Given the description of an element on the screen output the (x, y) to click on. 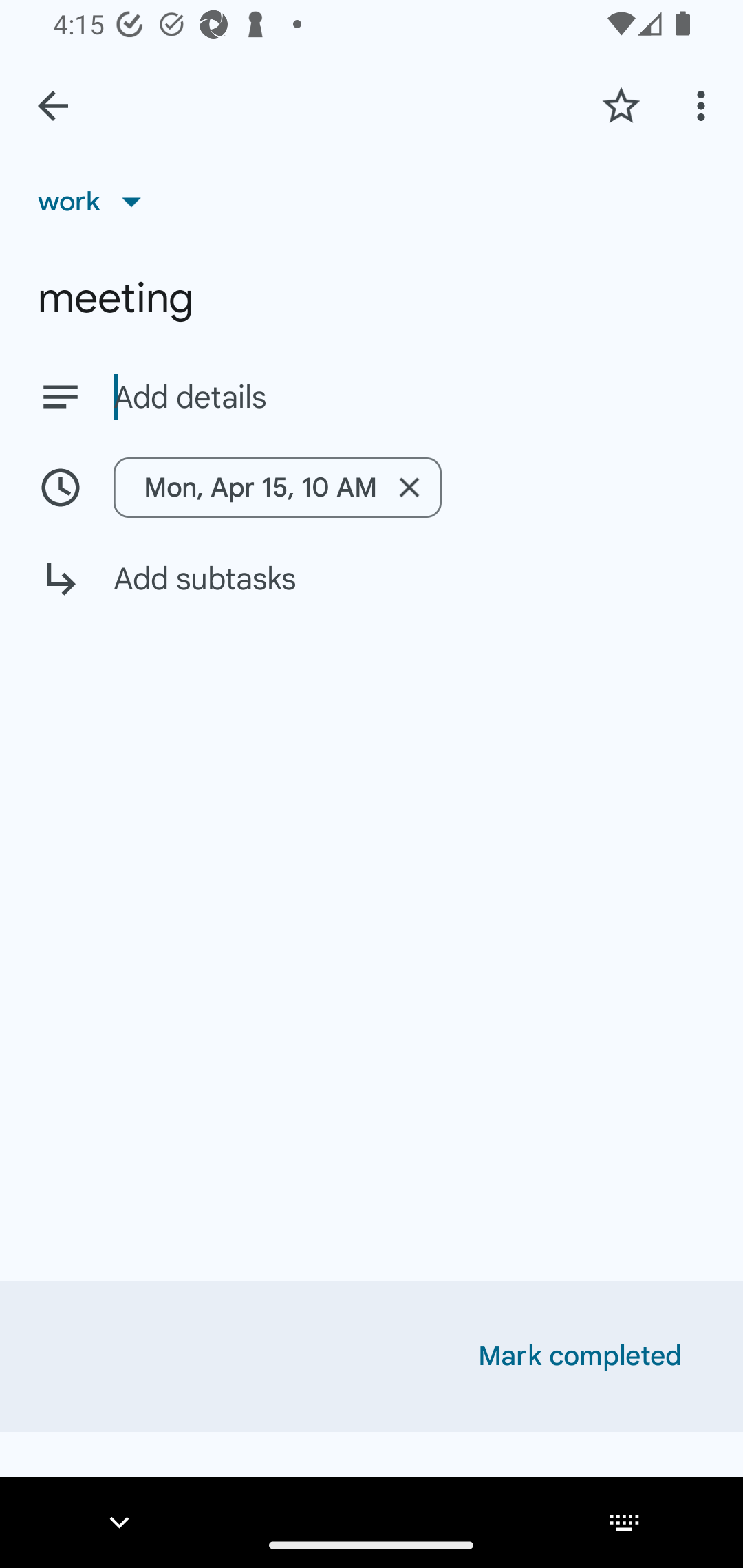
Back (53, 105)
Add star (620, 105)
More options (704, 105)
work List, work selected, 1 of 23 (95, 201)
meeting (371, 298)
Add details (371, 396)
Add details (409, 397)
Mon, Apr 15, 10 AM Remove date/time (371, 487)
Mon, Apr 15, 10 AM Remove date/time (277, 487)
Add subtasks (371, 593)
Mark completed (580, 1355)
